Given the description of an element on the screen output the (x, y) to click on. 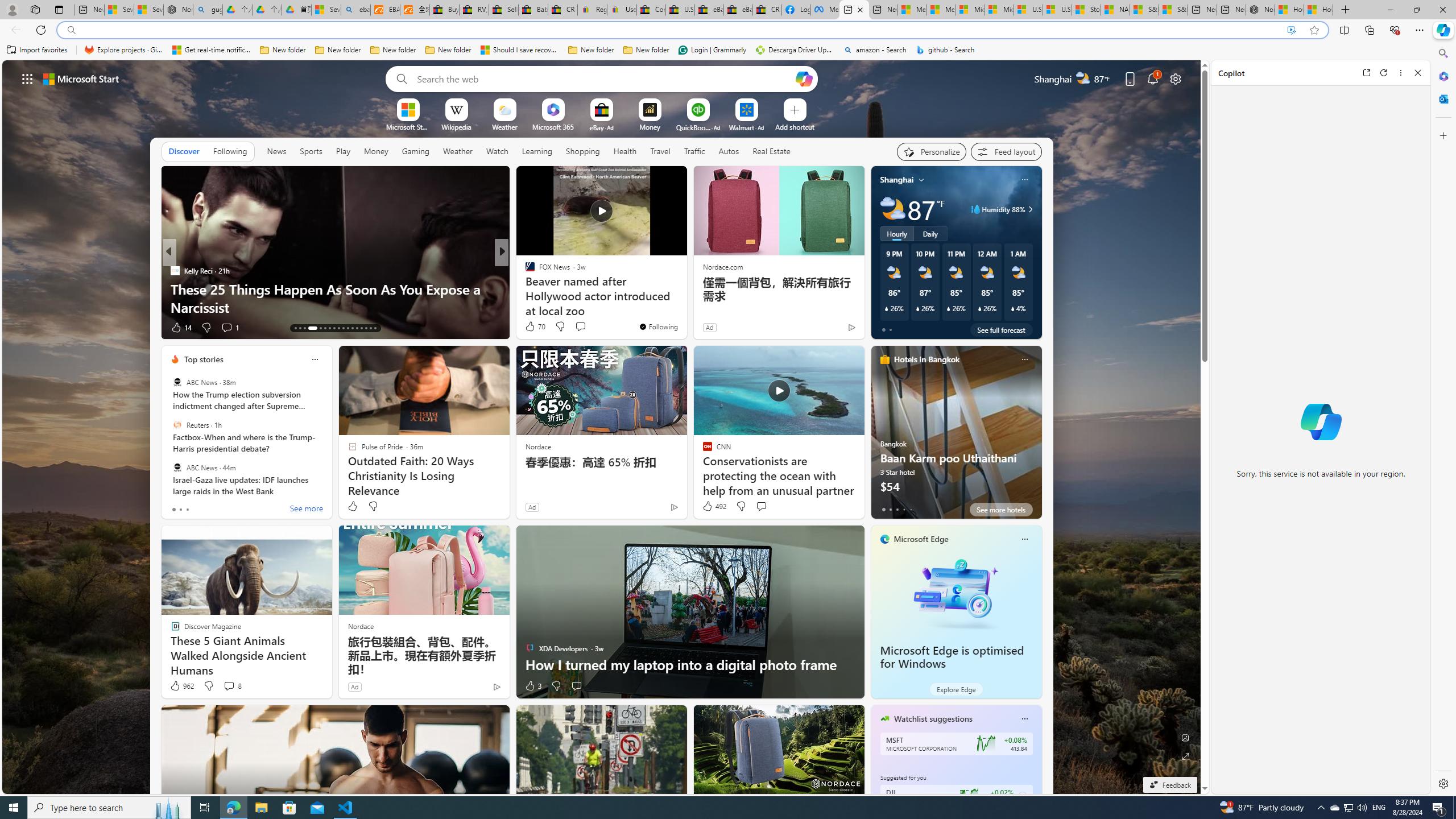
315 Like (532, 327)
Edit Background (1185, 737)
For The Win (524, 270)
tab-3 (903, 509)
Favorites bar (715, 49)
New folder (646, 49)
